Given the description of an element on the screen output the (x, y) to click on. 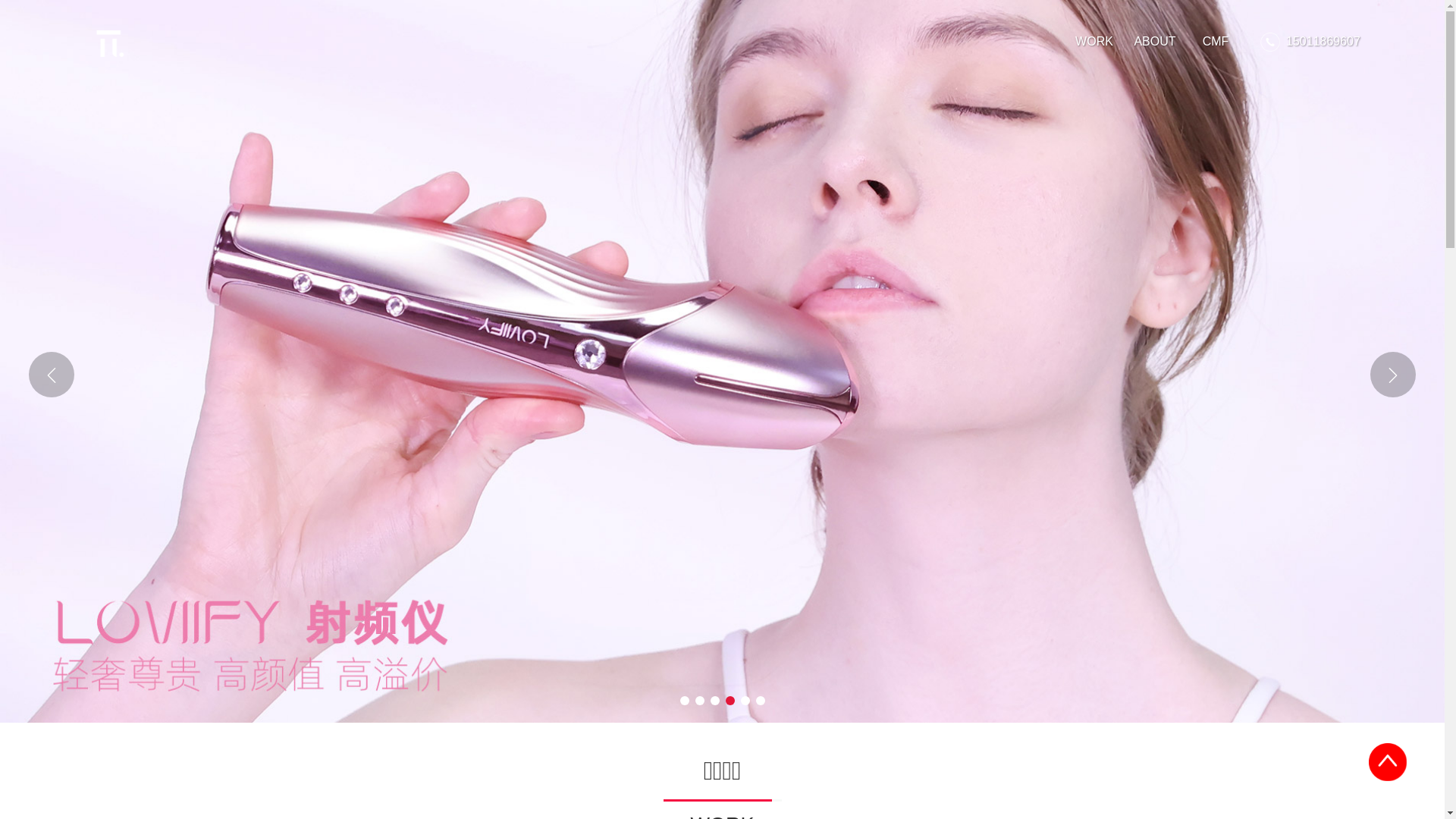
ABOUT Element type: text (1154, 41)
CMF Element type: text (1215, 41)
WORK Element type: text (1093, 41)
15011869607 Element type: text (1323, 41)
